Given the description of an element on the screen output the (x, y) to click on. 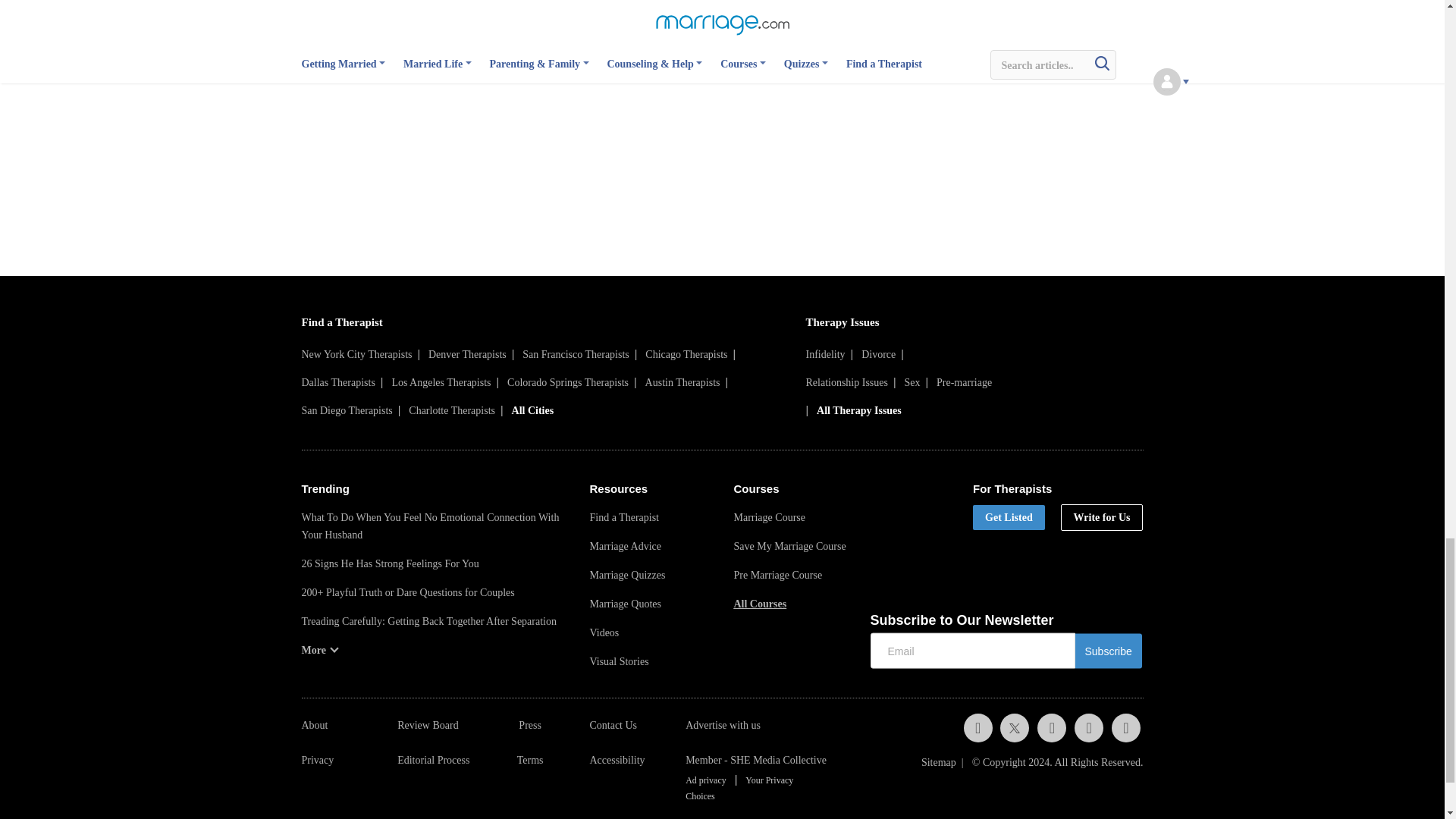
Subscribe (1108, 651)
Find a Therapist (341, 322)
Denver Therapists (467, 354)
New York City Therapists (356, 354)
San Francisco Therapists (575, 354)
